Given the description of an element on the screen output the (x, y) to click on. 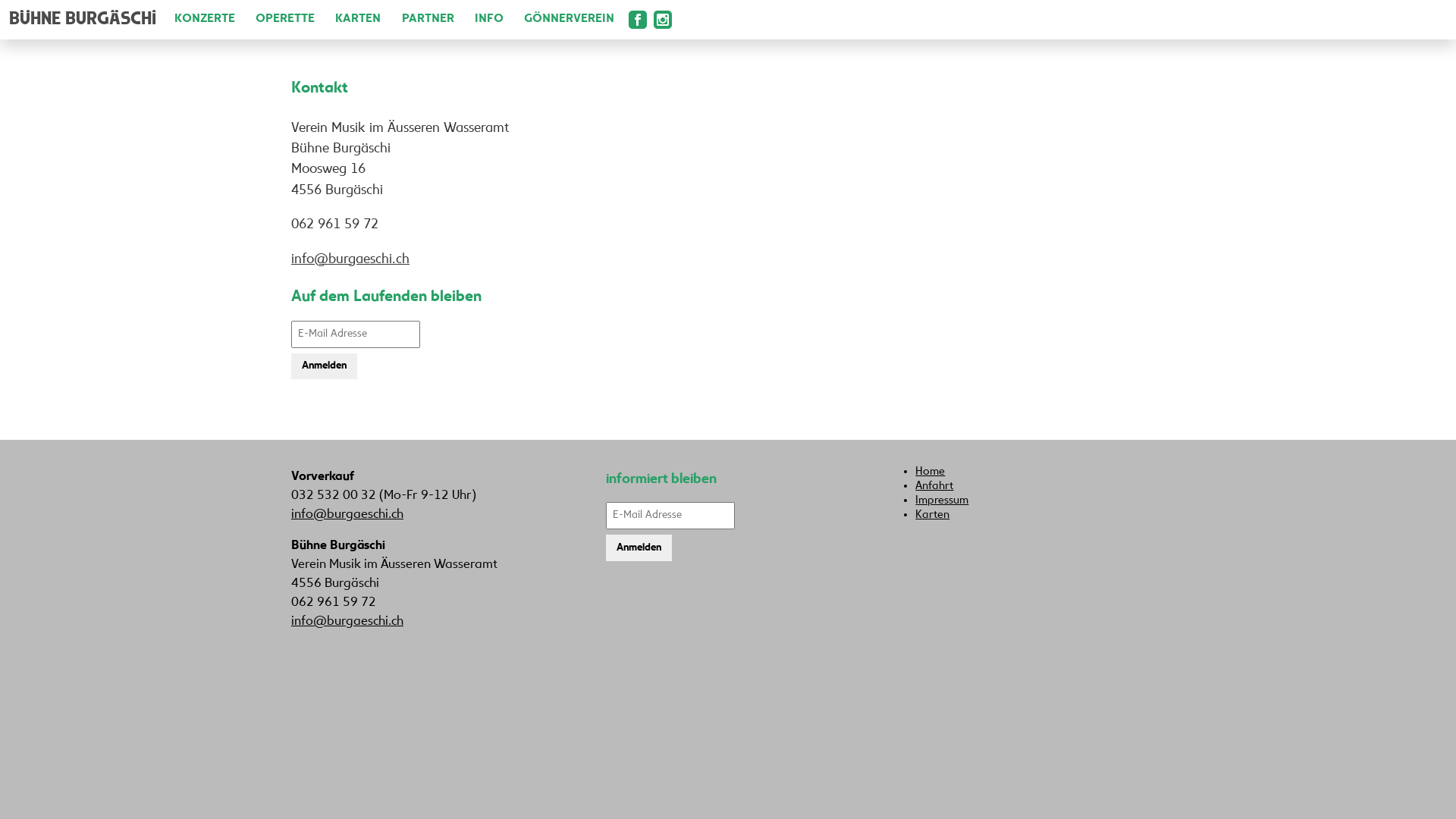
info@burgaeschi.ch Element type: text (347, 514)
KARTEN Element type: text (349, 19)
Karten Element type: text (932, 514)
Impressum Element type: text (941, 500)
Anfahrt Element type: text (934, 486)
Home Element type: text (929, 471)
info@burgaeschi.ch Element type: text (347, 621)
Anmelden Element type: text (324, 366)
Anmelden Element type: text (638, 547)
info@burgaeschi.ch Element type: text (350, 259)
